Given the description of an element on the screen output the (x, y) to click on. 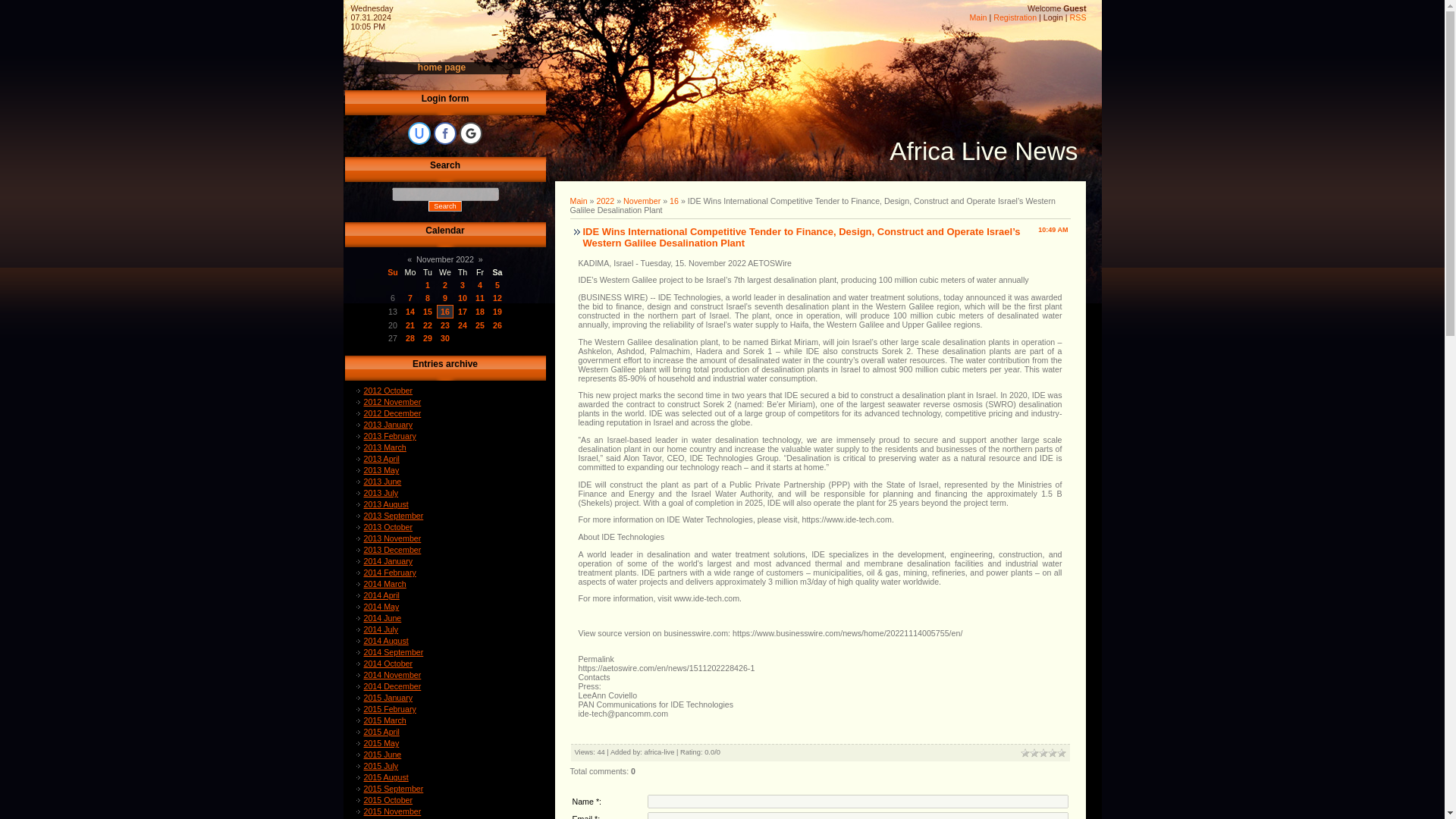
Log in with Google (470, 133)
29 (427, 338)
Search (444, 205)
6 Messages (480, 297)
8 Messages (427, 311)
11 (480, 297)
home page (441, 67)
10 Messages (497, 297)
12 (497, 297)
25 (480, 325)
Search (444, 205)
Login (1052, 17)
November 2022 (445, 258)
22 (427, 325)
Search (444, 205)
